Given the description of an element on the screen output the (x, y) to click on. 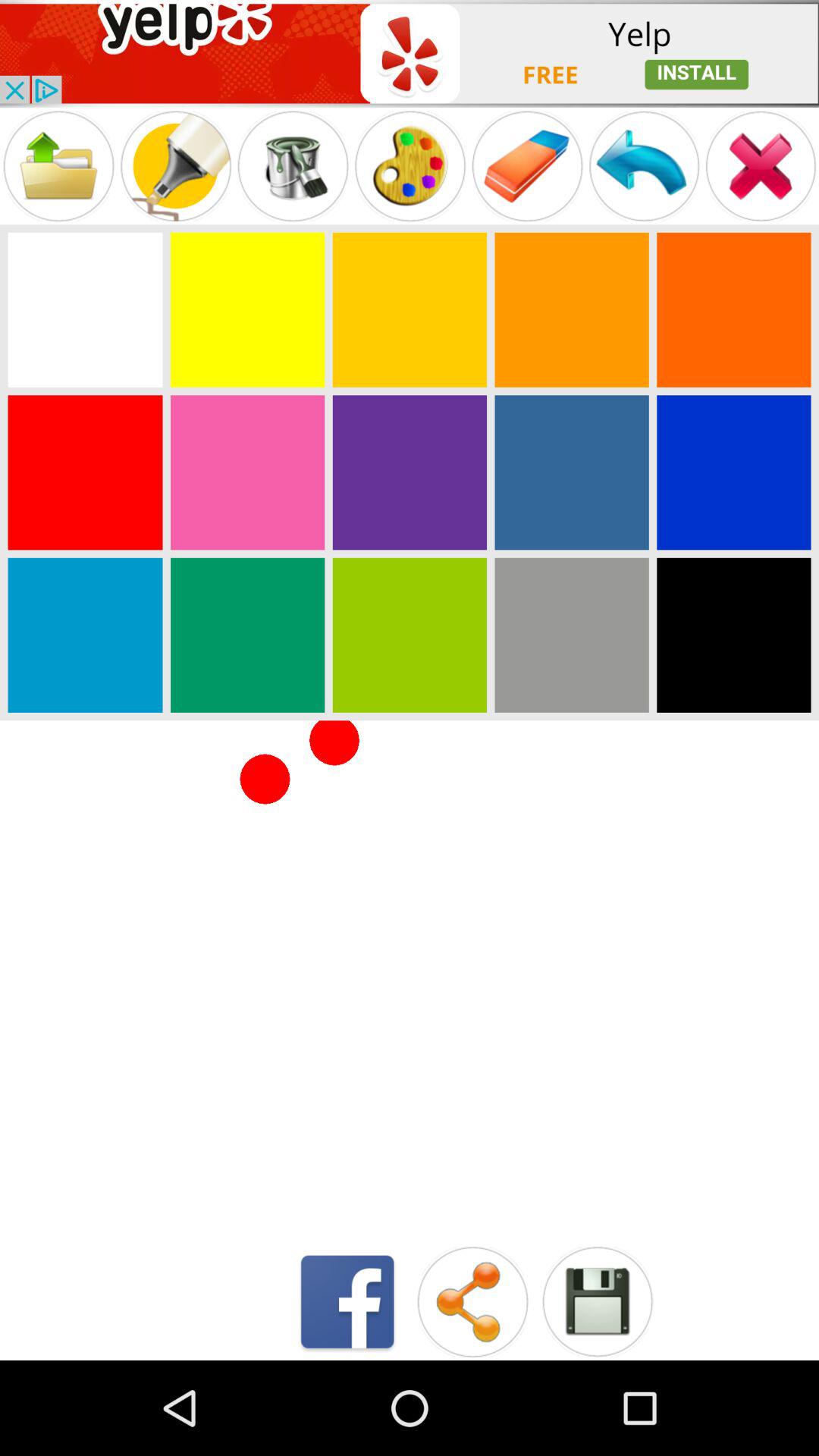
choose blue color (571, 472)
